Given the description of an element on the screen output the (x, y) to click on. 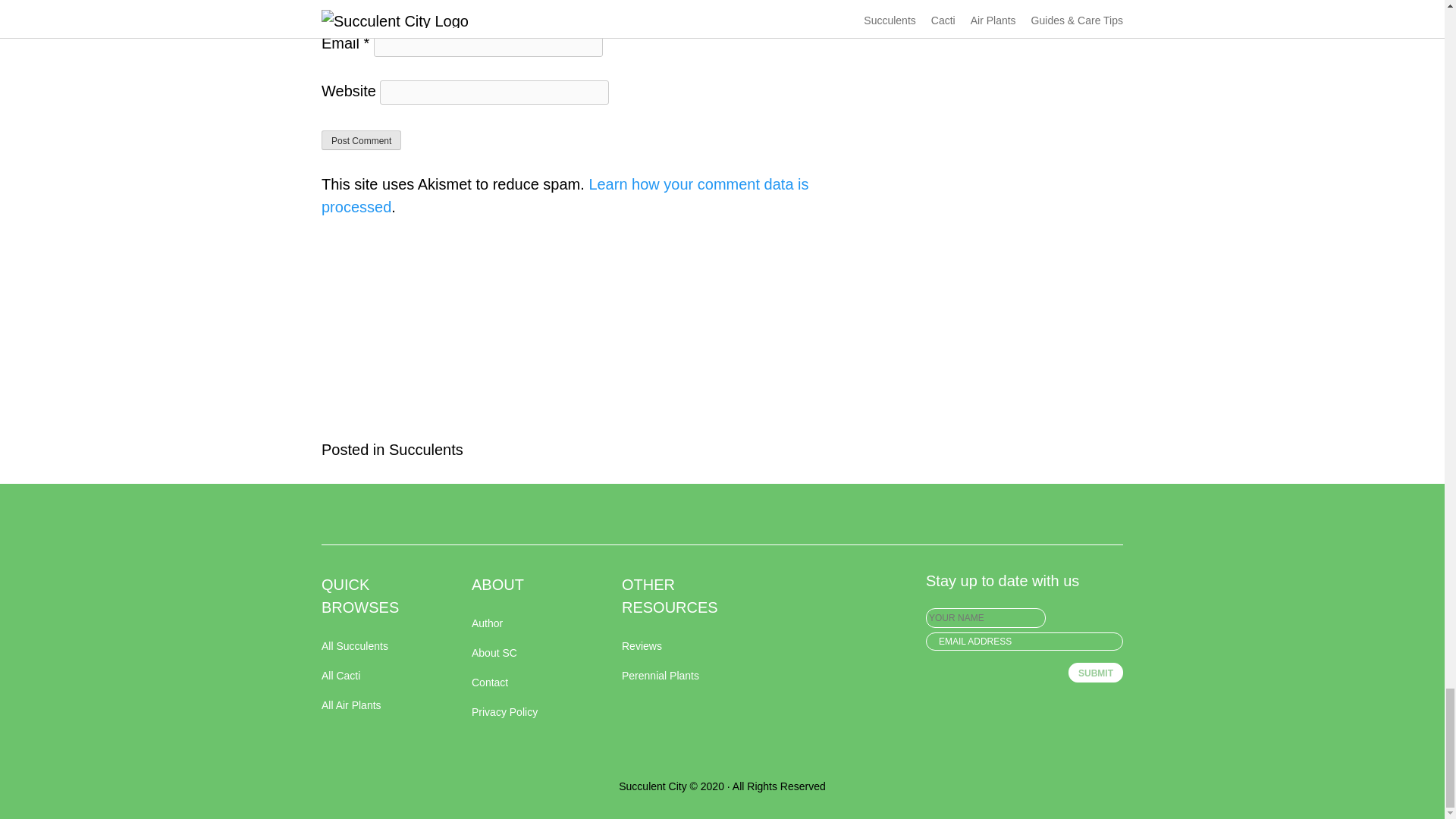
Post Comment (361, 139)
Post Comment (361, 139)
Learn how your comment data is processed (565, 195)
Submit (1095, 672)
